Given the description of an element on the screen output the (x, y) to click on. 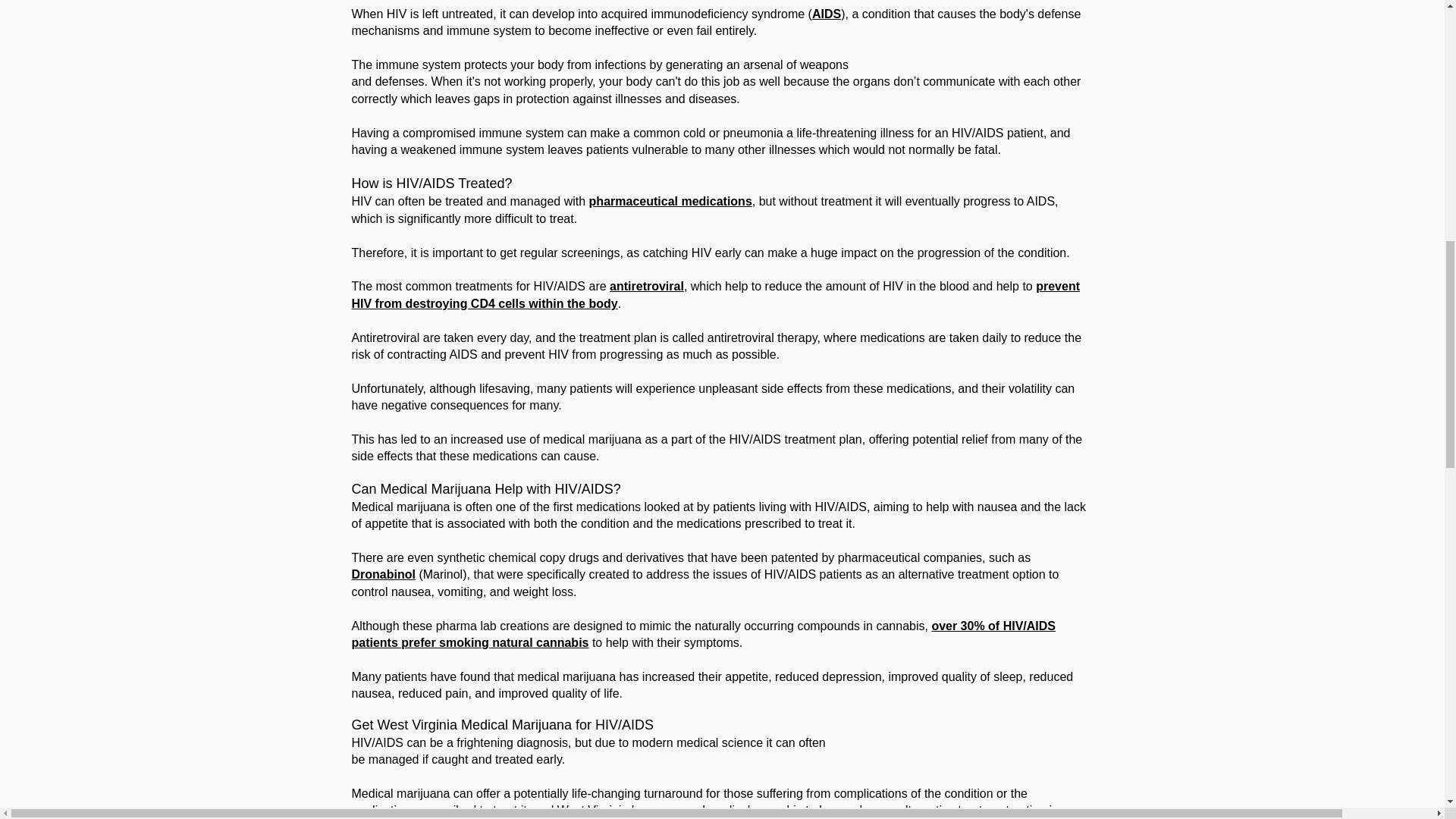
Dronabinol (383, 574)
prevent HIV from destroying CD4 cells within the body (716, 294)
antiretroviral (647, 286)
AIDS (826, 13)
pharmaceutical medications (670, 201)
